Given the description of an element on the screen output the (x, y) to click on. 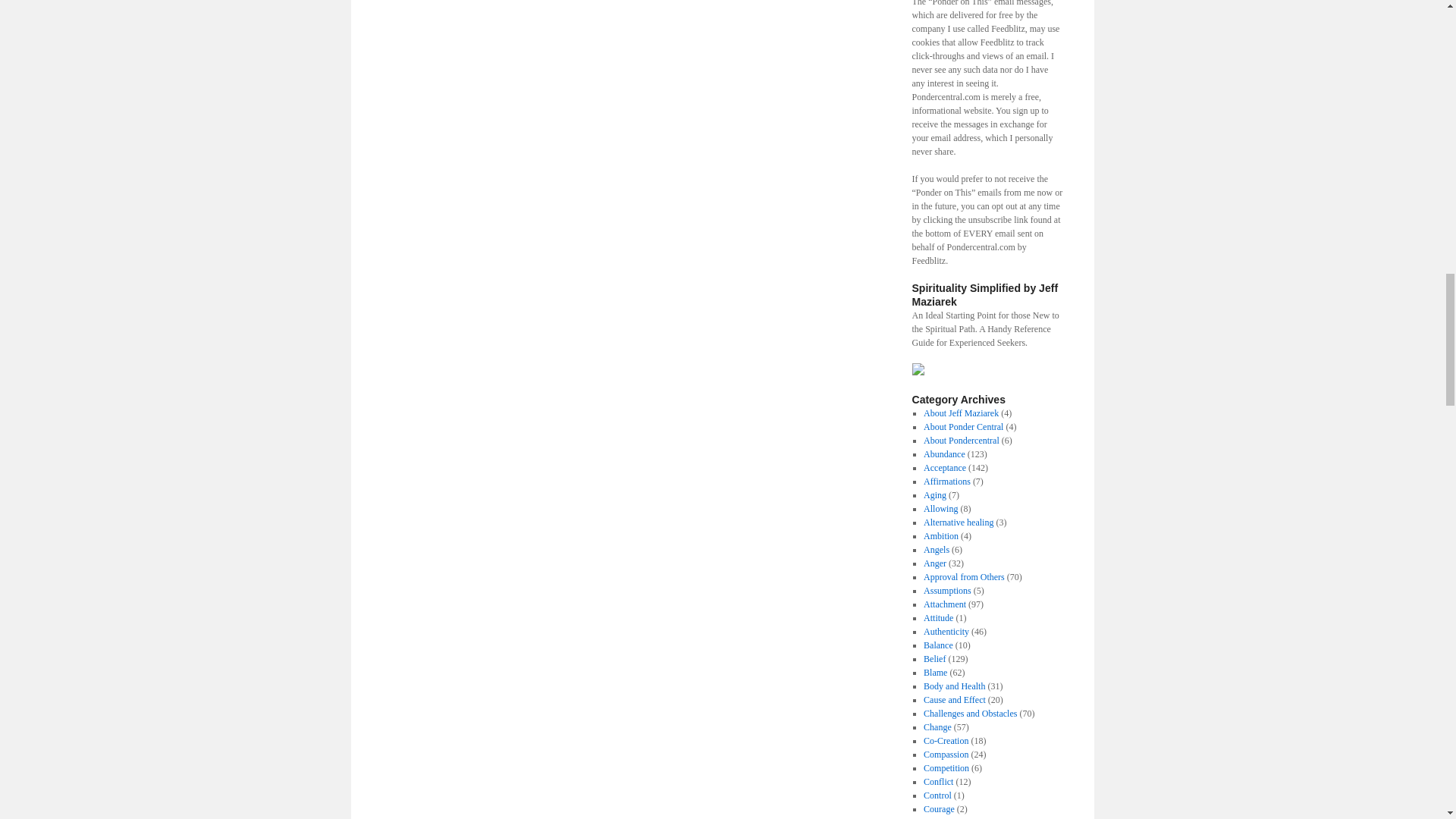
Abundance (944, 453)
Allowing (940, 508)
About Jeff Maziarek (960, 412)
Acceptance (944, 467)
About Pondercentral (960, 439)
Affirmations (947, 480)
Aging (934, 494)
About Ponder Central (963, 426)
